Given the description of an element on the screen output the (x, y) to click on. 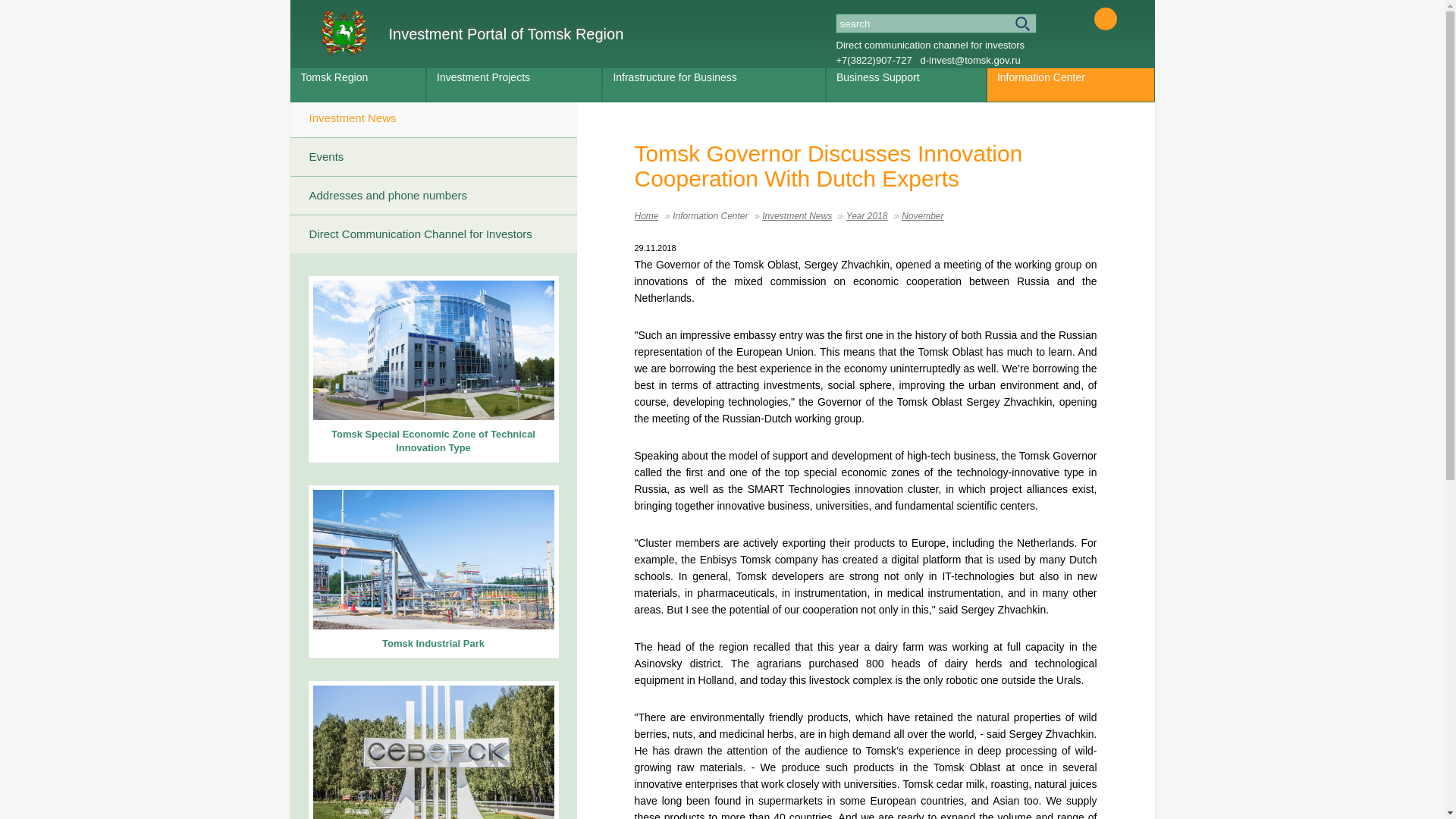
Tomsk Special Economic Zone of Technical Innovation Type (432, 369)
Tomsk Industrial Park (432, 571)
Search (935, 23)
Investment News (432, 118)
Ru (1081, 18)
Investment News (796, 215)
Events (432, 157)
Cn (1127, 18)
Direct Communication Channel for Investors (432, 234)
Investment Portal of Tomsk Region (471, 32)
Home (645, 215)
Search (935, 23)
Addresses and phone numbers (432, 195)
Direct communication channel for investors (930, 44)
